Given the description of an element on the screen output the (x, y) to click on. 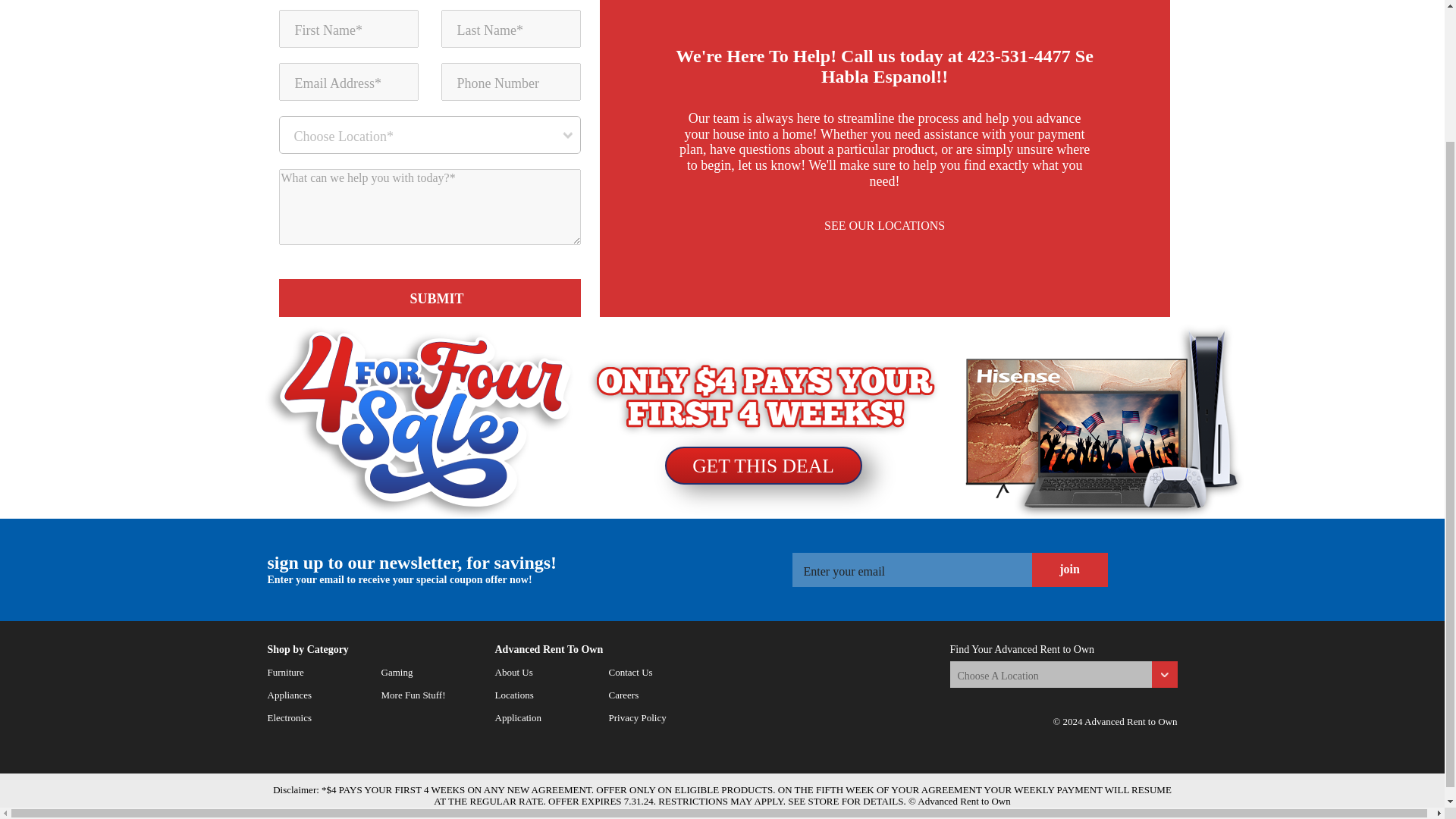
Privacy Policy (636, 712)
SUBMIT (429, 297)
Careers (623, 689)
Appliances (288, 689)
SEE OUR LOCATIONS (884, 225)
Application (517, 712)
About Us (513, 667)
join (1068, 569)
Locations (513, 689)
Furniture (284, 667)
SUBMIT (429, 297)
Electronics (288, 712)
More Fun Stuff! (412, 689)
Contact Us (630, 667)
Gaming (396, 667)
